Given the description of an element on the screen output the (x, y) to click on. 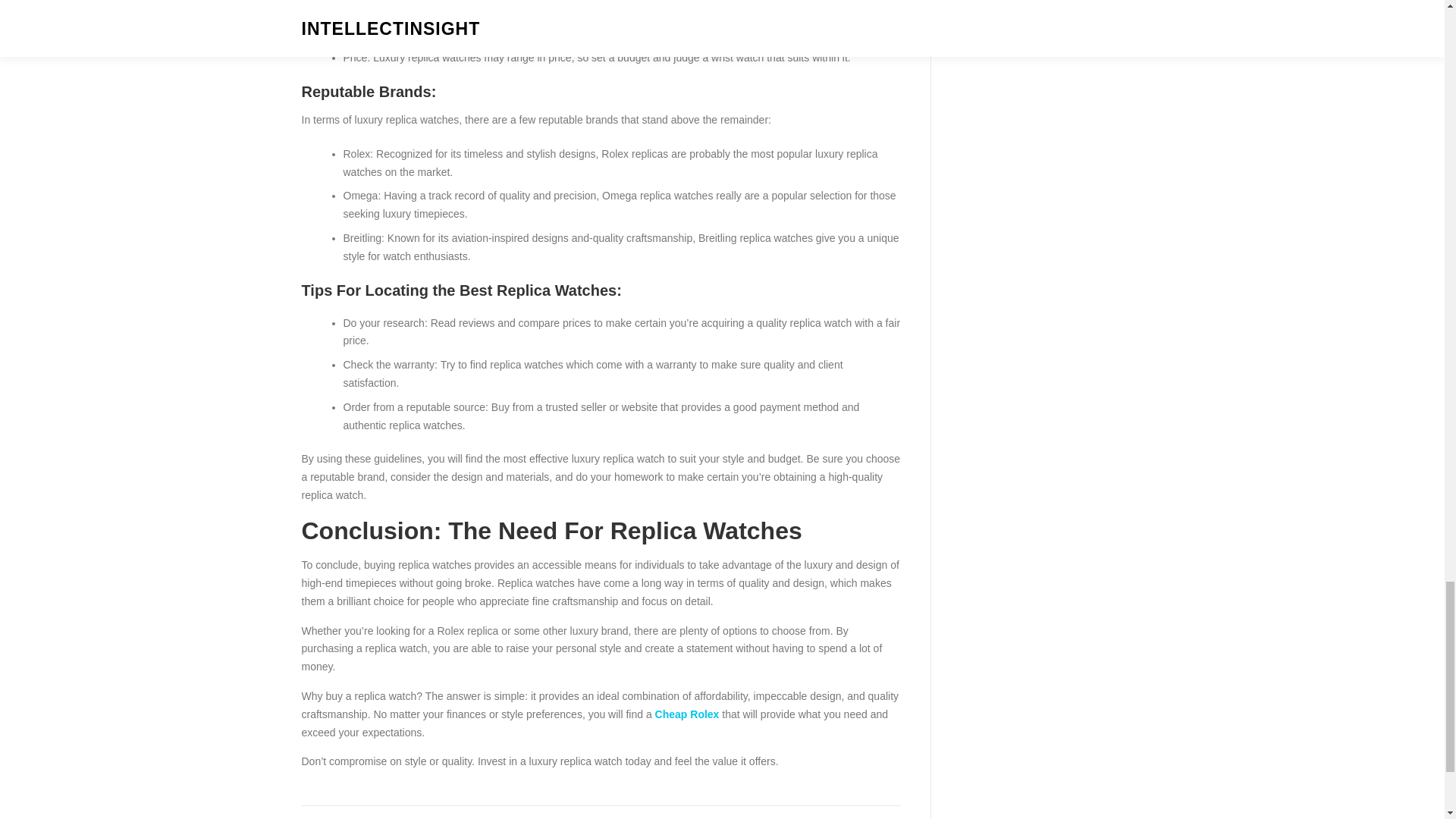
Cheap Rolex (687, 714)
